Given the description of an element on the screen output the (x, y) to click on. 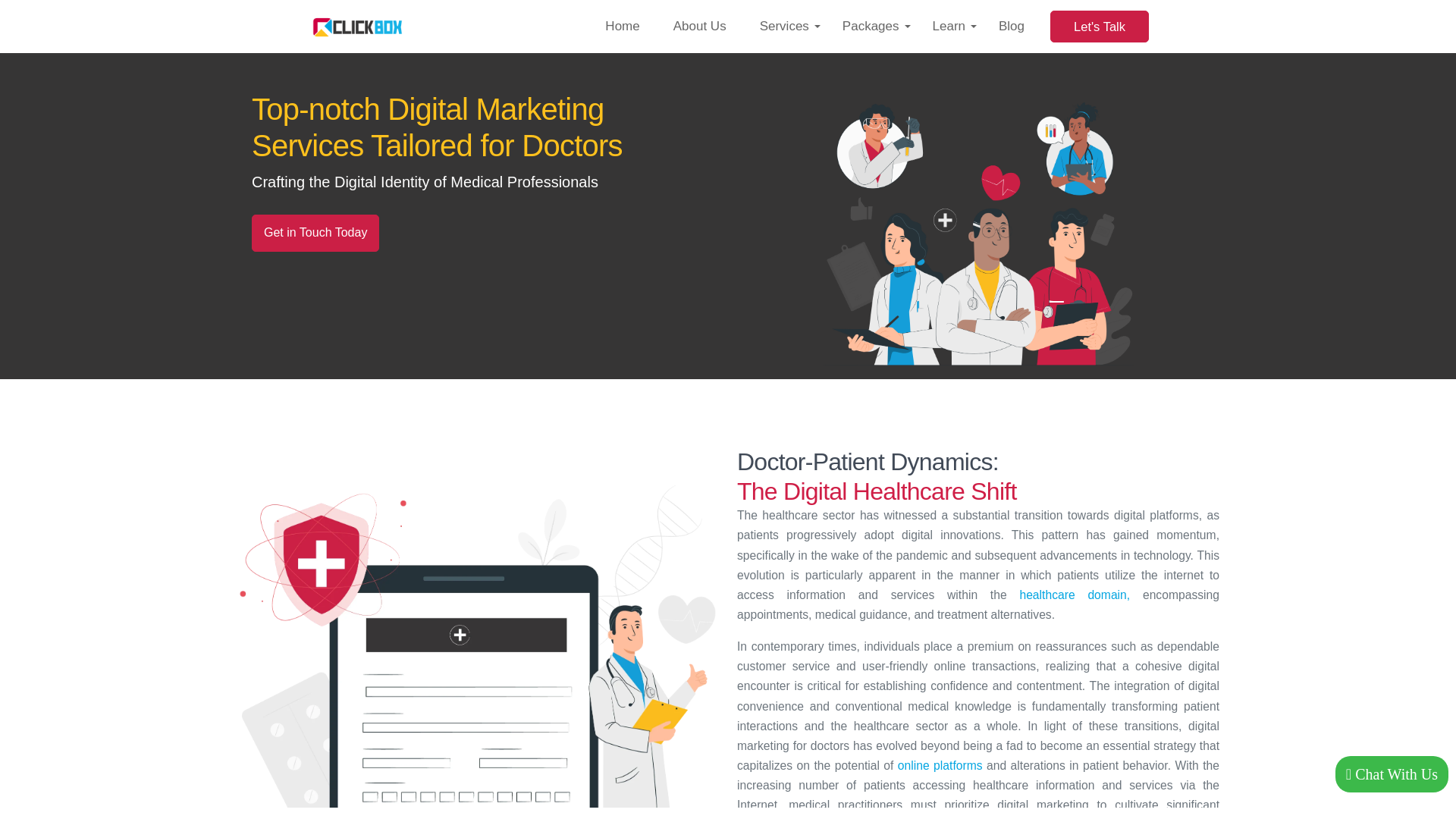
contact us (314, 232)
About Us (700, 26)
Services (784, 26)
Home (622, 26)
